Given the description of an element on the screen output the (x, y) to click on. 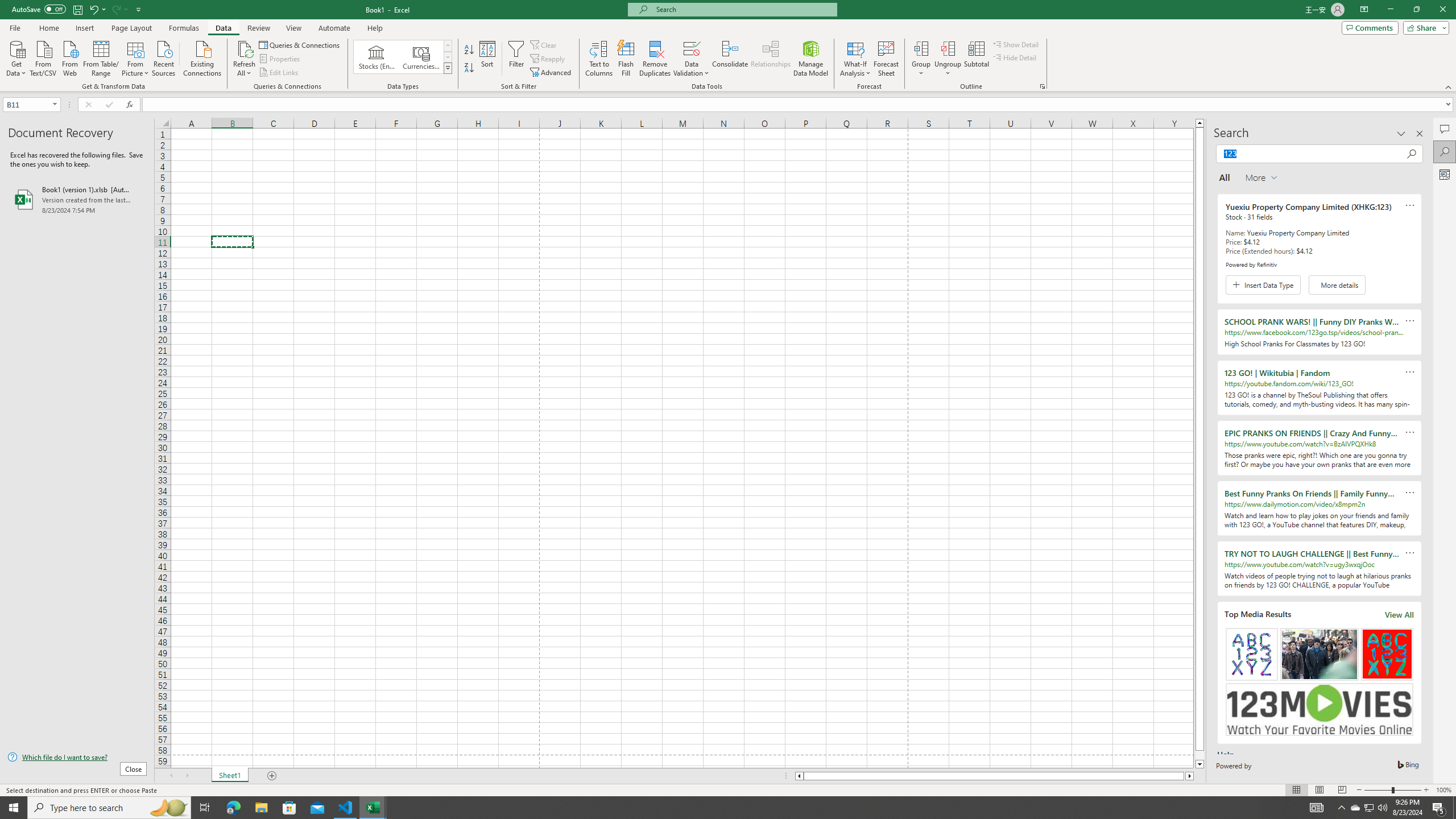
Relationships (770, 58)
